Given the description of an element on the screen output the (x, y) to click on. 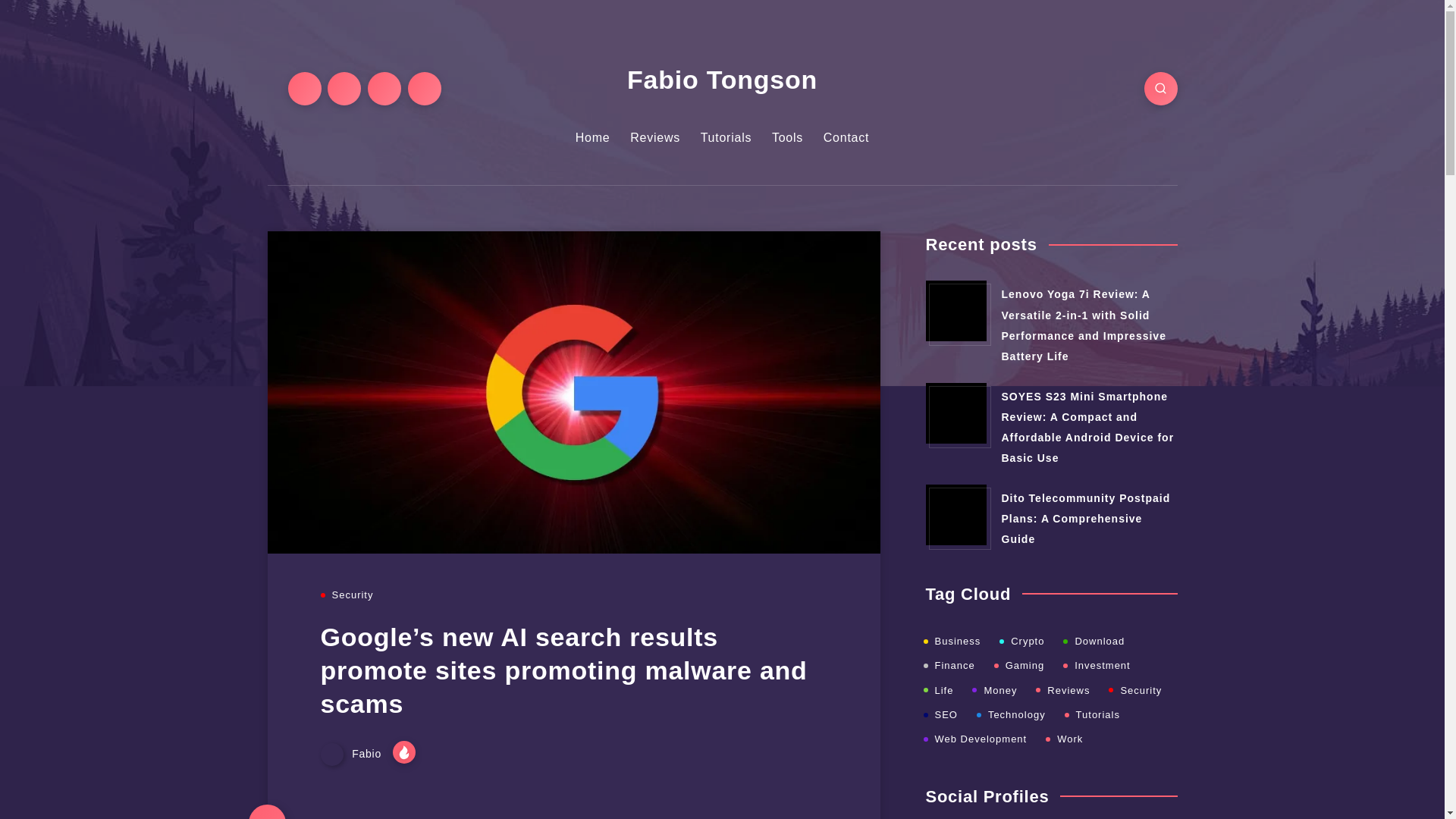
Author: Fabio (352, 753)
Reviews (654, 138)
Security (352, 594)
Tutorials (726, 138)
Home (592, 138)
103 Views (403, 752)
Fabio Tongson (721, 79)
Fabio (352, 753)
Tools (787, 138)
Contact (846, 138)
